Given the description of an element on the screen output the (x, y) to click on. 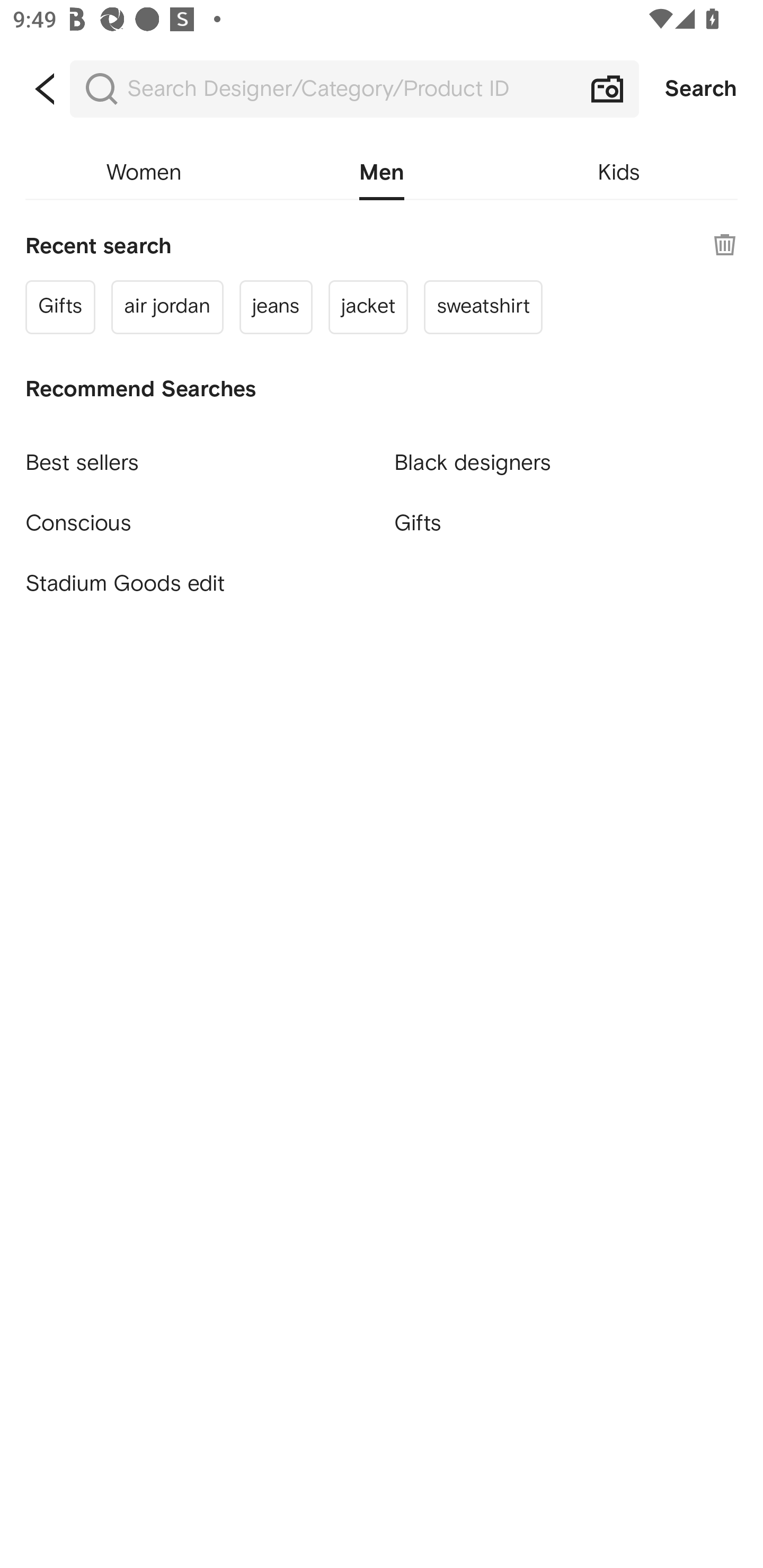
Search (701, 89)
Women (143, 172)
Kids (618, 172)
Gifts (60, 306)
air jordan (166, 306)
jeans (276, 306)
jacket (368, 306)
sweatshirt (482, 306)
Best sellers (196, 454)
Black designers (565, 454)
Conscious (196, 514)
Gifts (565, 522)
Stadium Goods edit (196, 583)
